Given the description of an element on the screen output the (x, y) to click on. 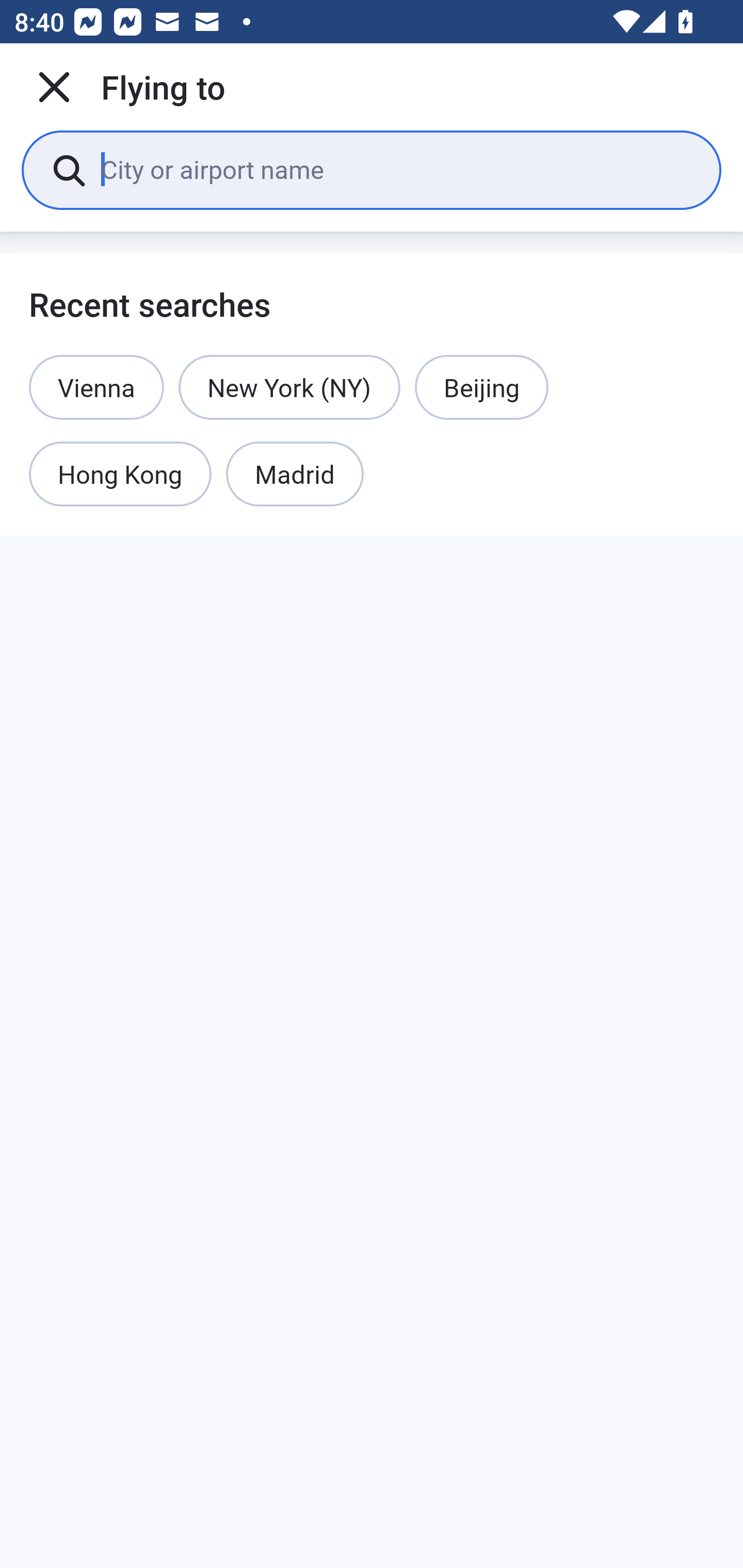
City or airport name (396, 169)
Vienna (96, 387)
New York (NY) (289, 387)
Beijing (481, 387)
Hong Kong (119, 474)
Madrid (294, 474)
